Given the description of an element on the screen output the (x, y) to click on. 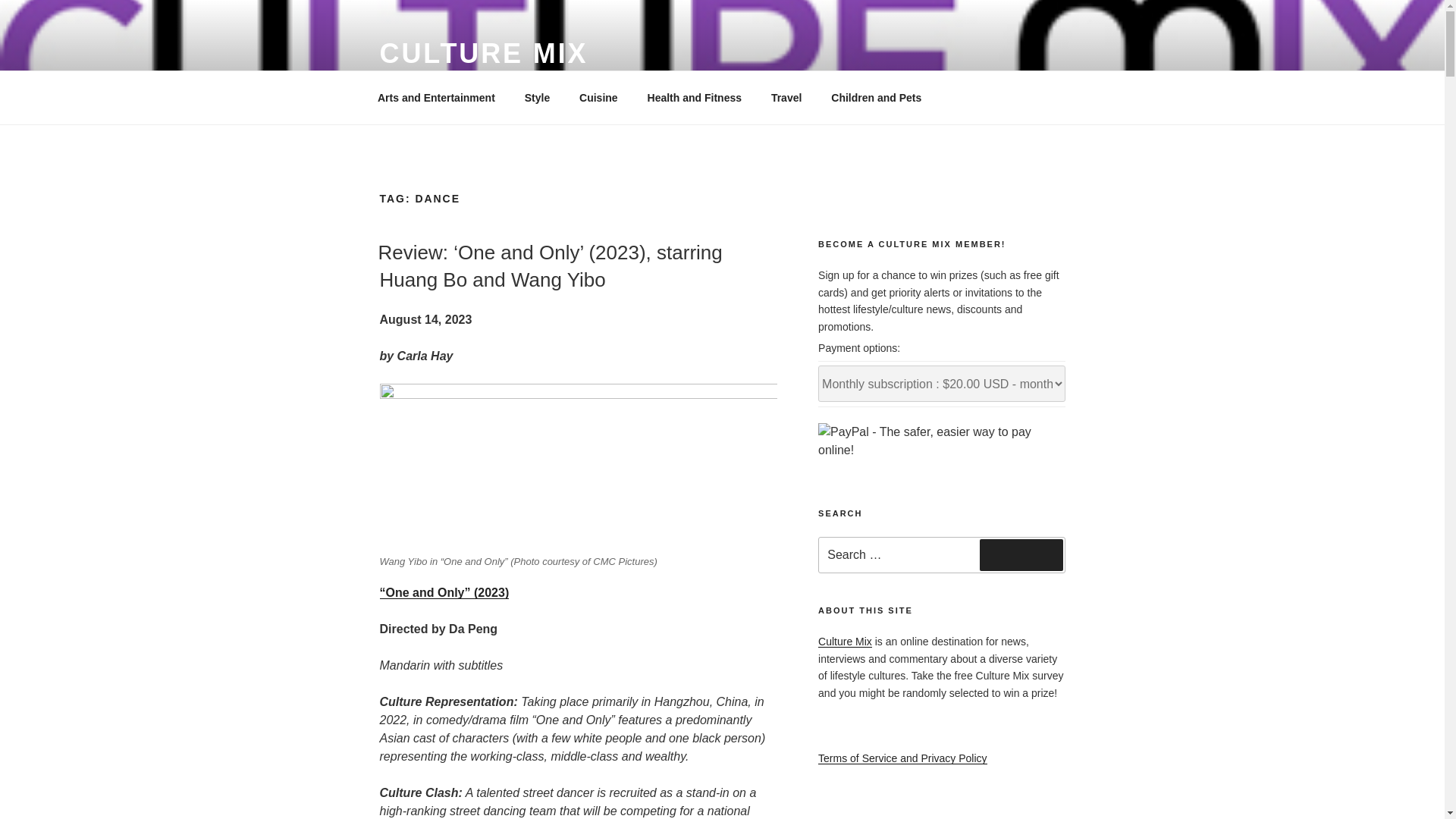
Cuisine (598, 97)
CULTURE MIX (483, 52)
Children and Pets (876, 97)
Style (536, 97)
Culture Mix (845, 641)
Health and Fitness (693, 97)
Search (1020, 554)
Terms of Service and Privacy Policy (902, 758)
Arts and Entertainment (436, 97)
Travel (785, 97)
